Given the description of an element on the screen output the (x, y) to click on. 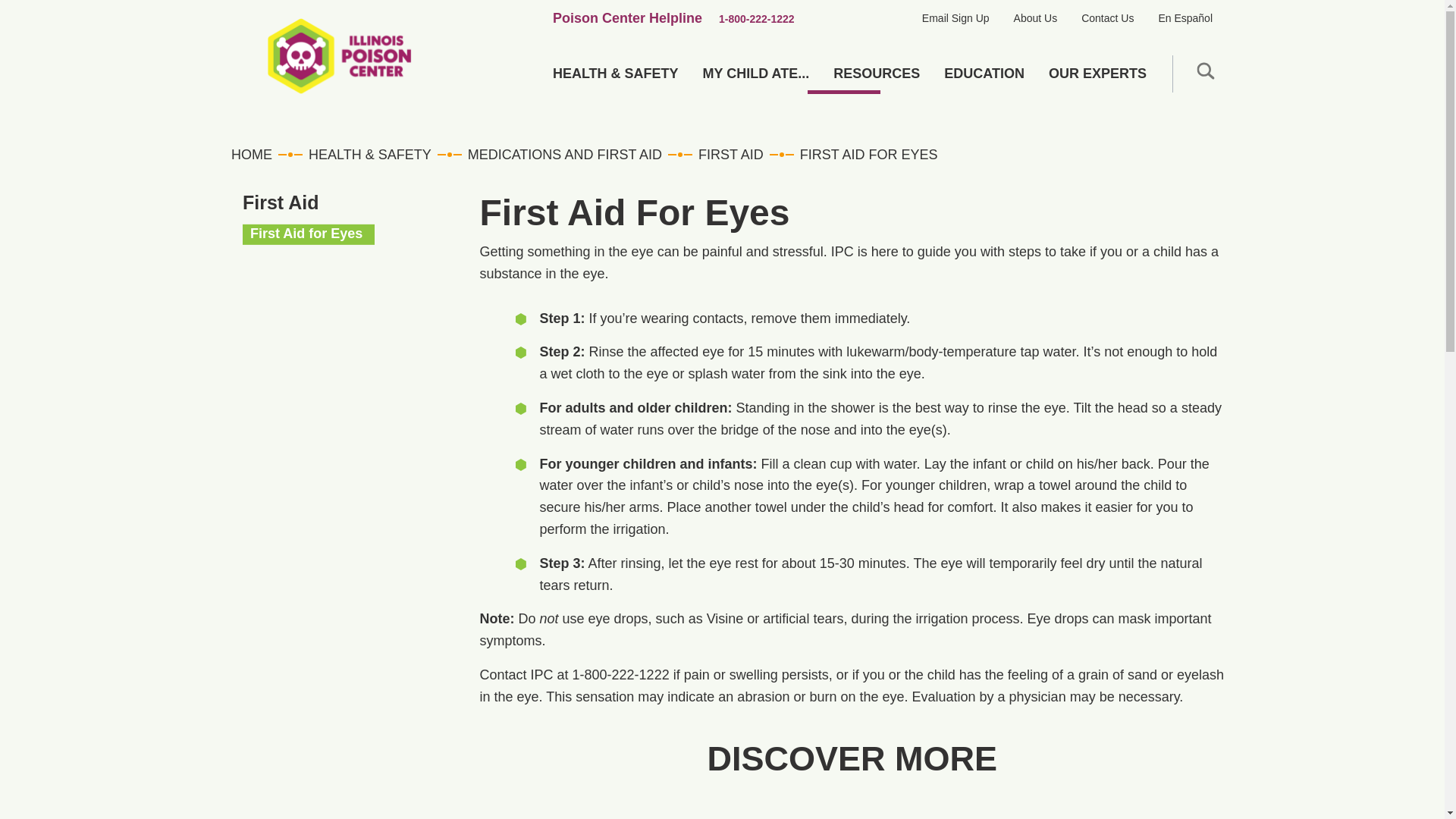
Start Search (1205, 70)
HOME (260, 154)
FIRST AID (730, 154)
Contact Us (1106, 18)
1-800-222-1222 (756, 18)
OUR EXPERTS (1097, 73)
MY CHILD ATE... (756, 73)
RESOURCES (876, 73)
MEDICATIONS AND FIRST AID (564, 154)
Search (1147, 123)
